Given the description of an element on the screen output the (x, y) to click on. 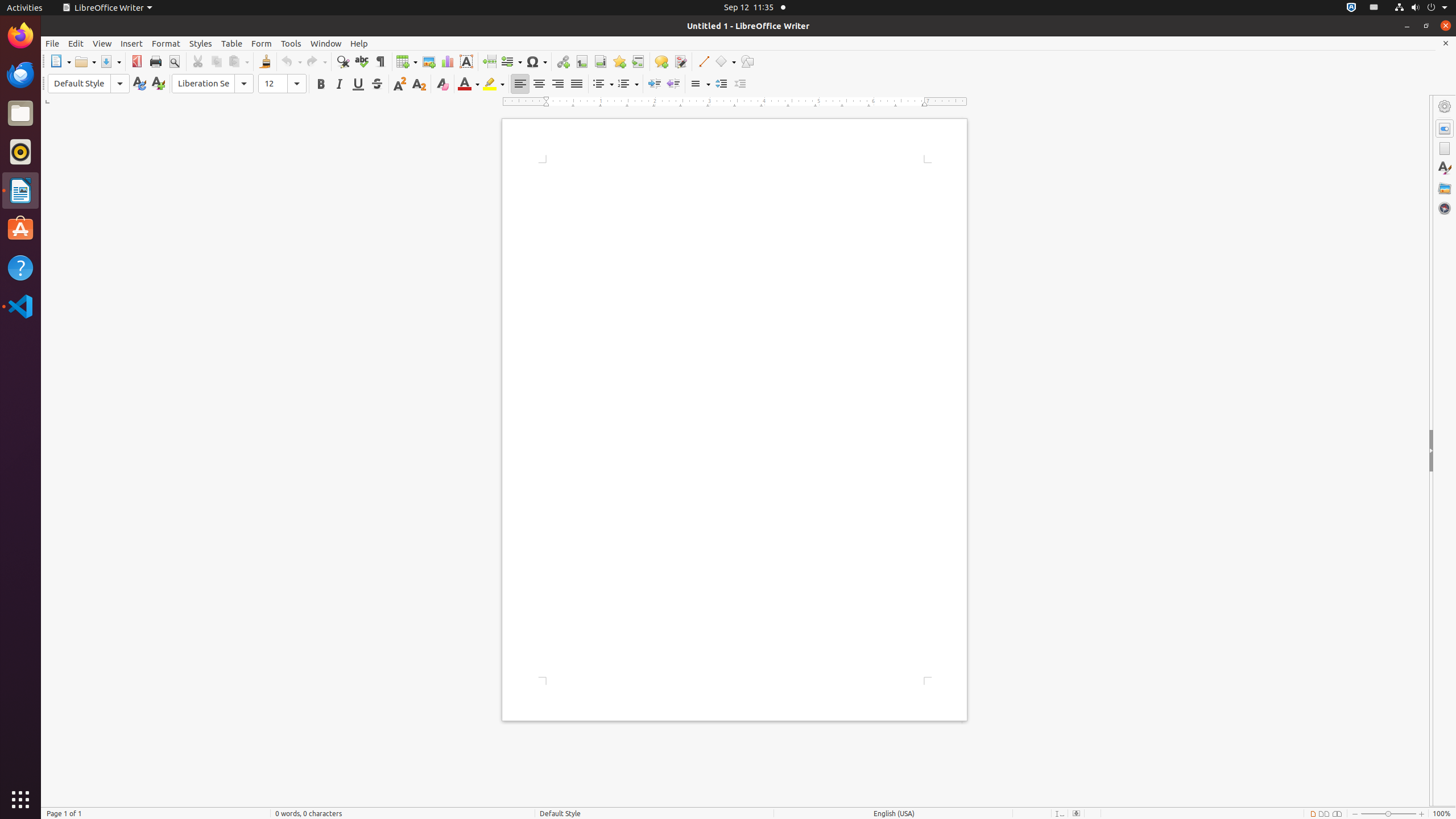
Styles Element type: radio-button (1444, 168)
